Given the description of an element on the screen output the (x, y) to click on. 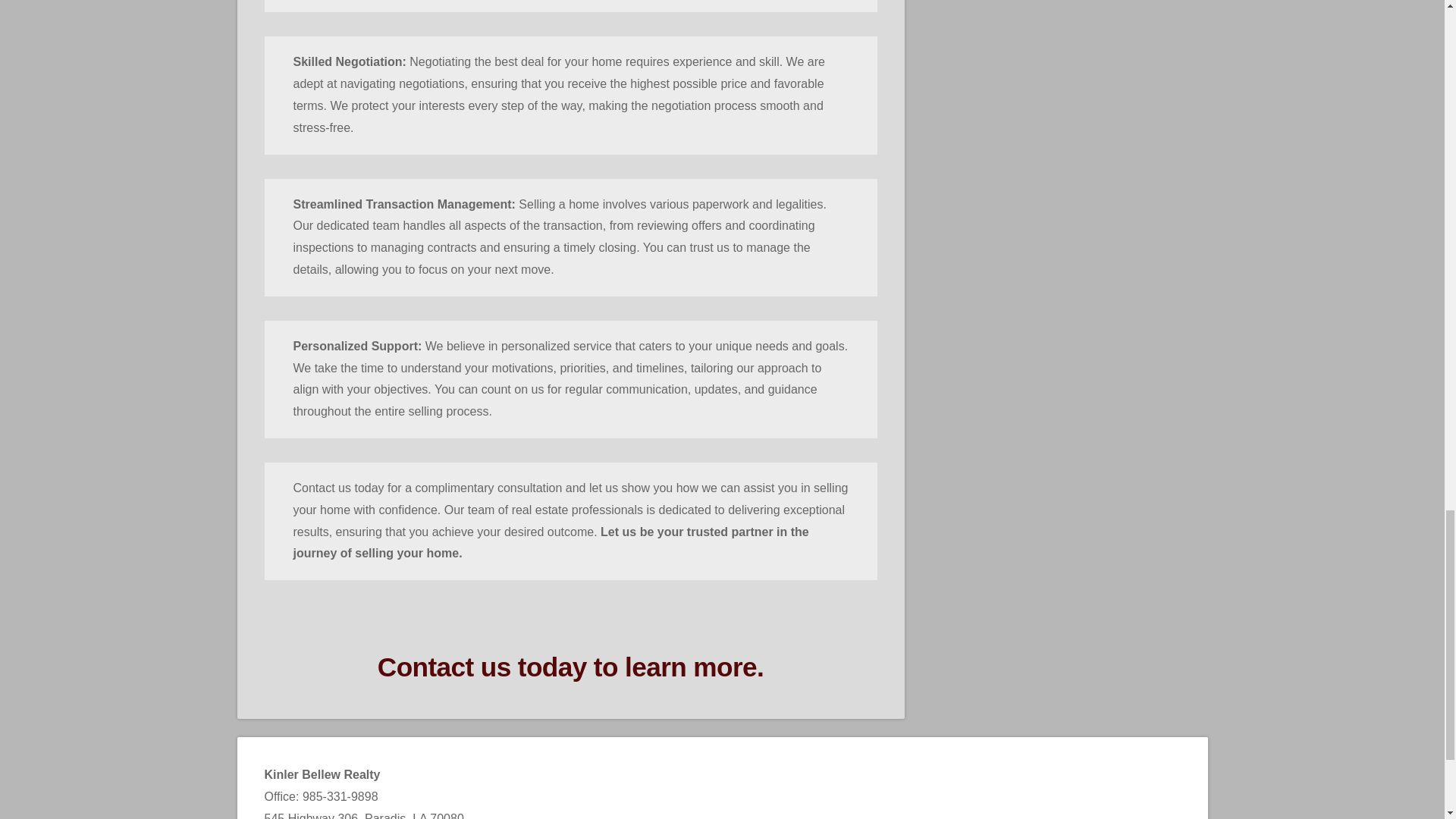
Contact us today to learn more. (569, 666)
